Given the description of an element on the screen output the (x, y) to click on. 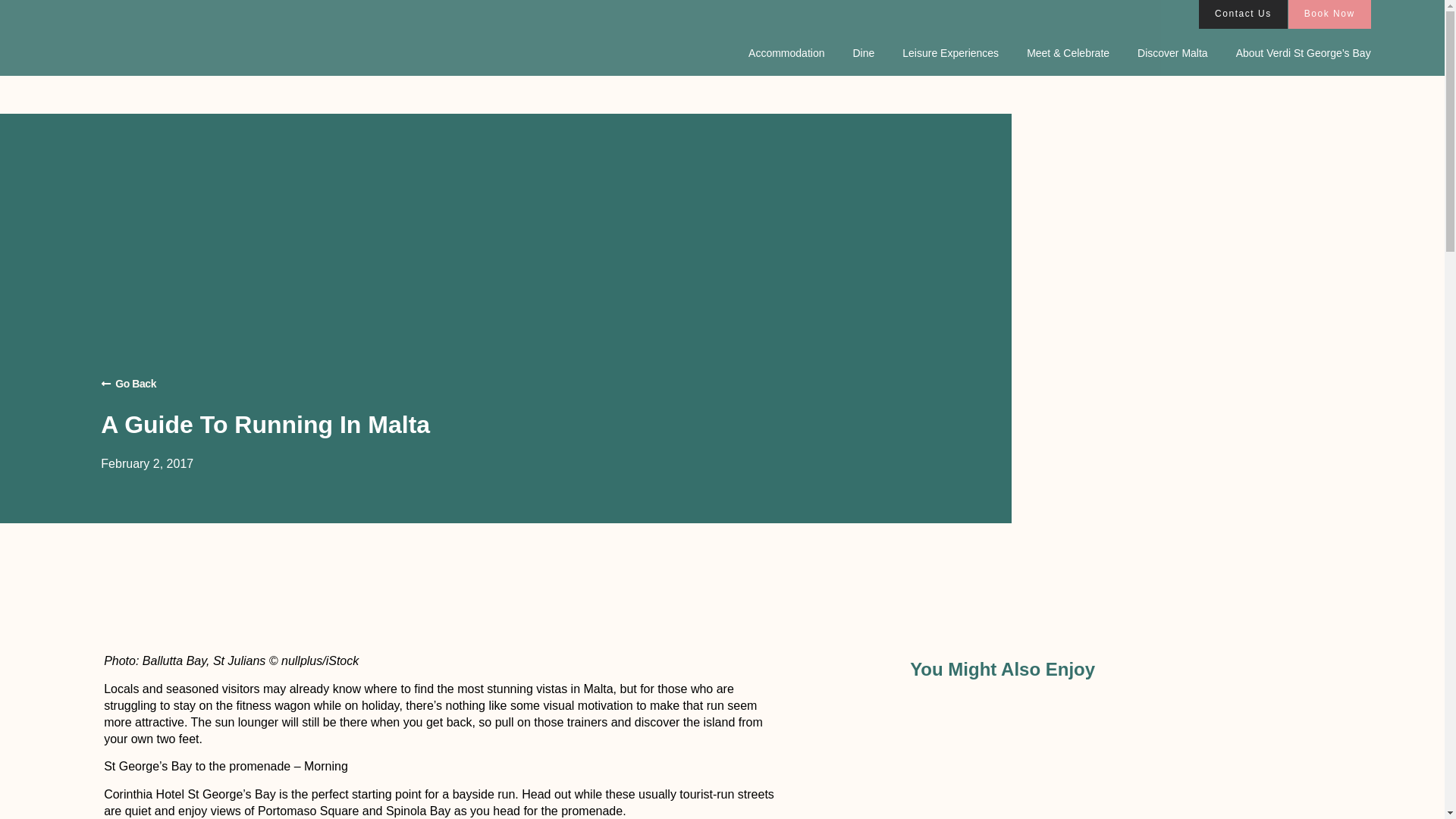
Discover Malta (1172, 53)
Accommodation (786, 53)
Book Now (1329, 14)
Contact Us (1242, 14)
Leisure Experiences (950, 53)
